Given the description of an element on the screen output the (x, y) to click on. 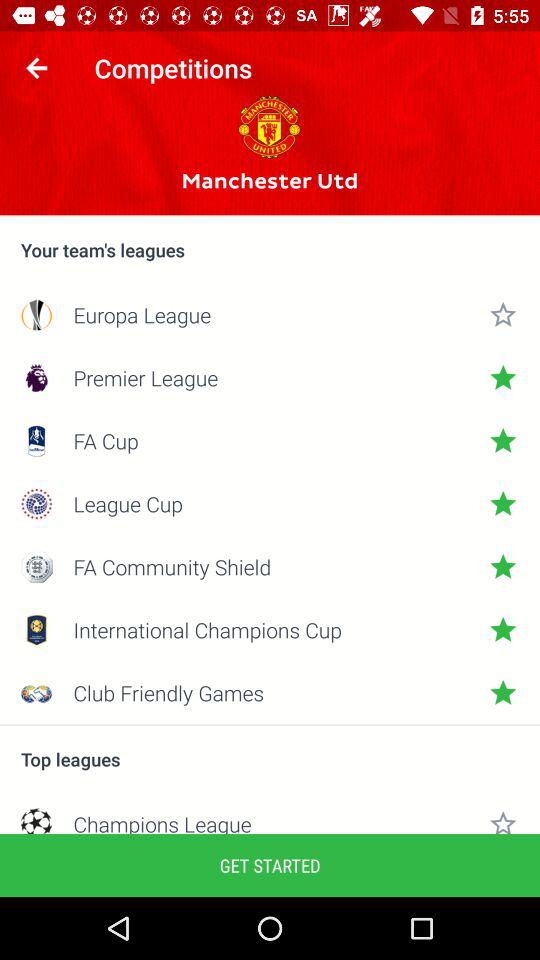
flip until the fa community shield icon (269, 566)
